Given the description of an element on the screen output the (x, y) to click on. 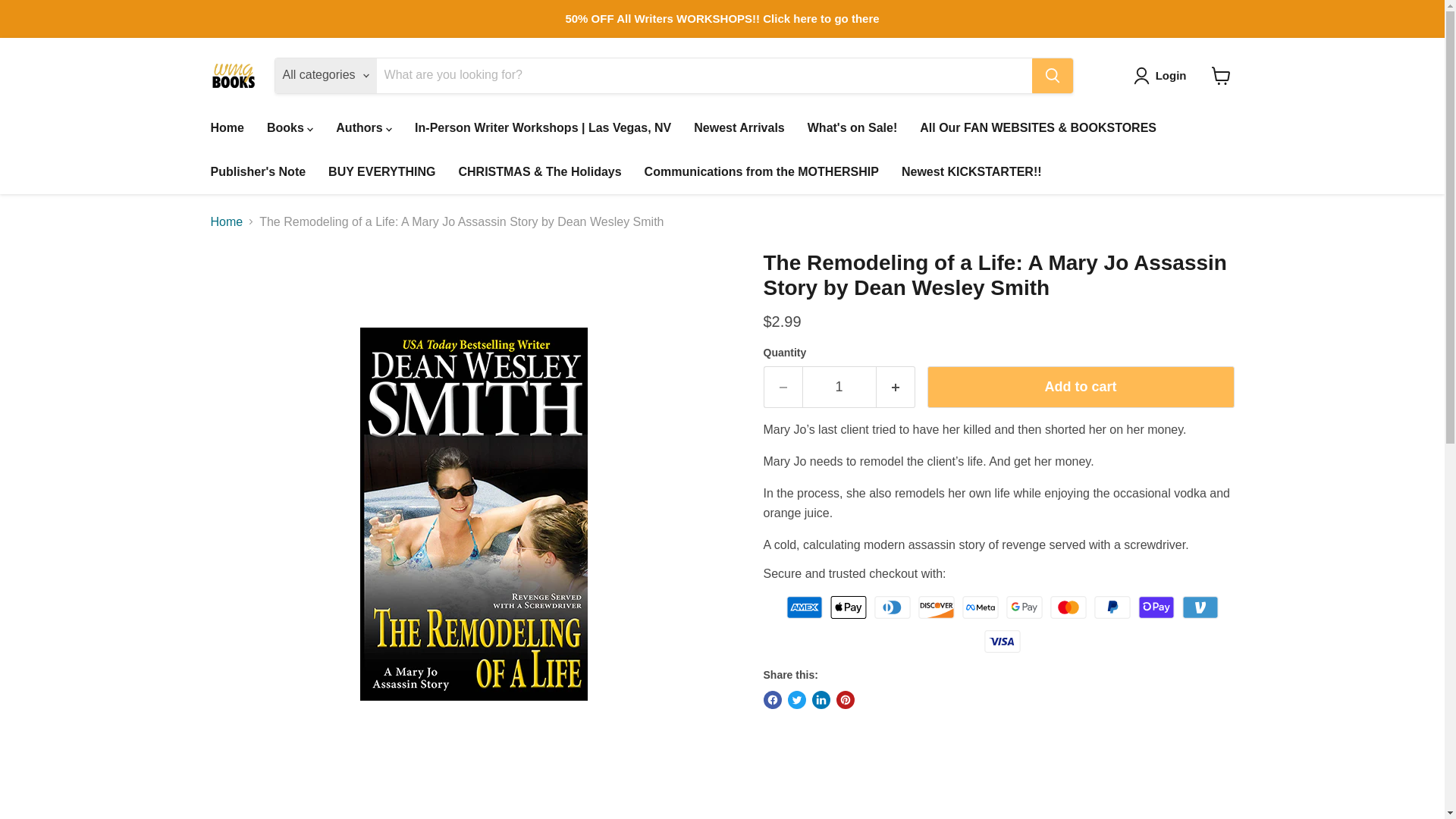
Meta Pay (980, 607)
Login (1163, 75)
Diners Club (893, 607)
1 (839, 386)
PayPal (1112, 607)
Newest Arrivals (738, 128)
Discover (936, 607)
Shop Pay (1156, 607)
Apple Pay (847, 607)
American Express (804, 607)
View cart (1221, 75)
Venmo (1200, 607)
Google Pay (1024, 607)
Mastercard (1067, 607)
Visa (1002, 640)
